Given the description of an element on the screen output the (x, y) to click on. 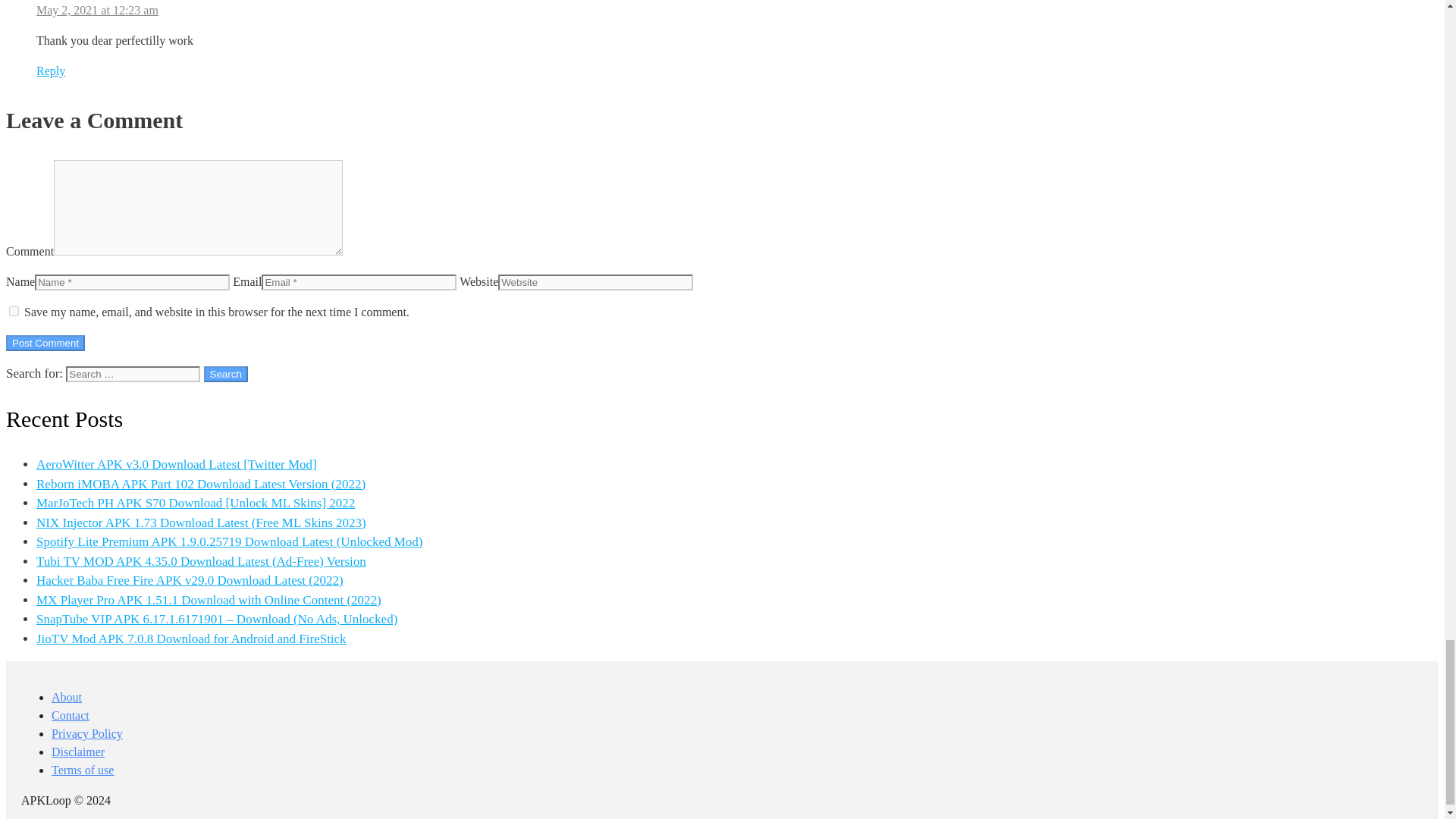
Search (225, 374)
yes (13, 311)
Post Comment (44, 342)
Reply (50, 70)
Post Comment (44, 342)
May 2, 2021 at 12:23 am (97, 10)
Search (225, 374)
Search (225, 374)
Search for: (132, 374)
